Given the description of an element on the screen output the (x, y) to click on. 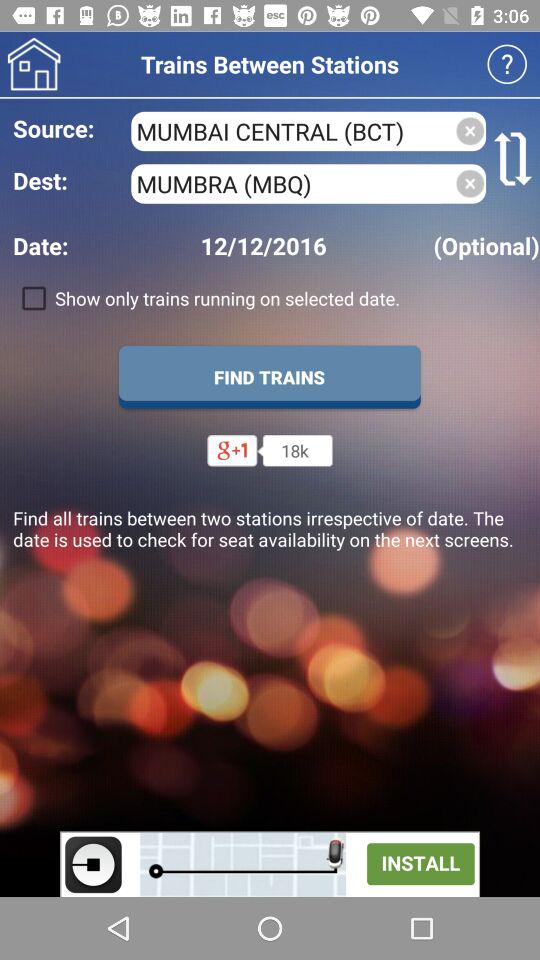
clear destination (470, 183)
